Given the description of an element on the screen output the (x, y) to click on. 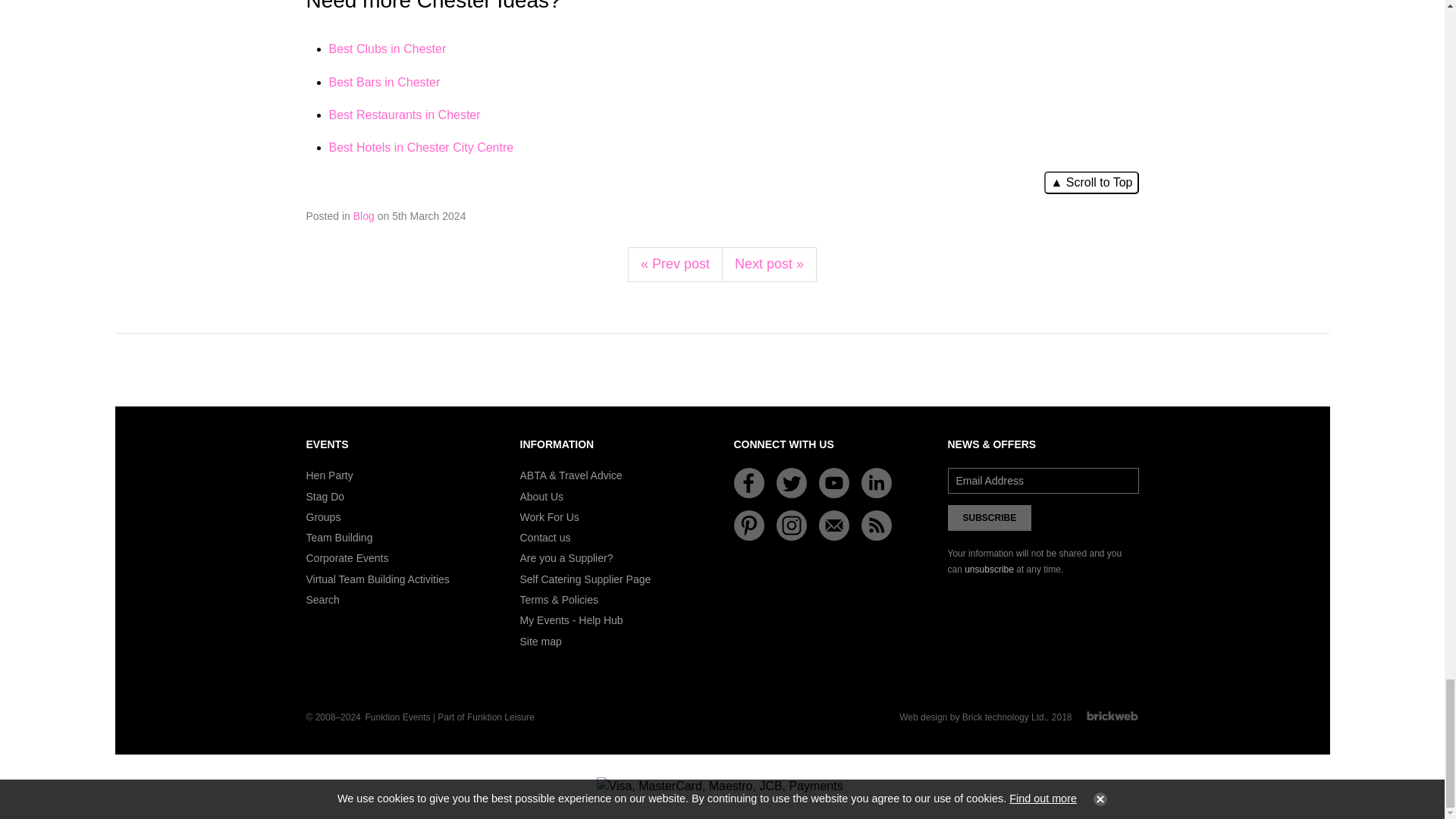
Subscribe (989, 517)
